Given the description of an element on the screen output the (x, y) to click on. 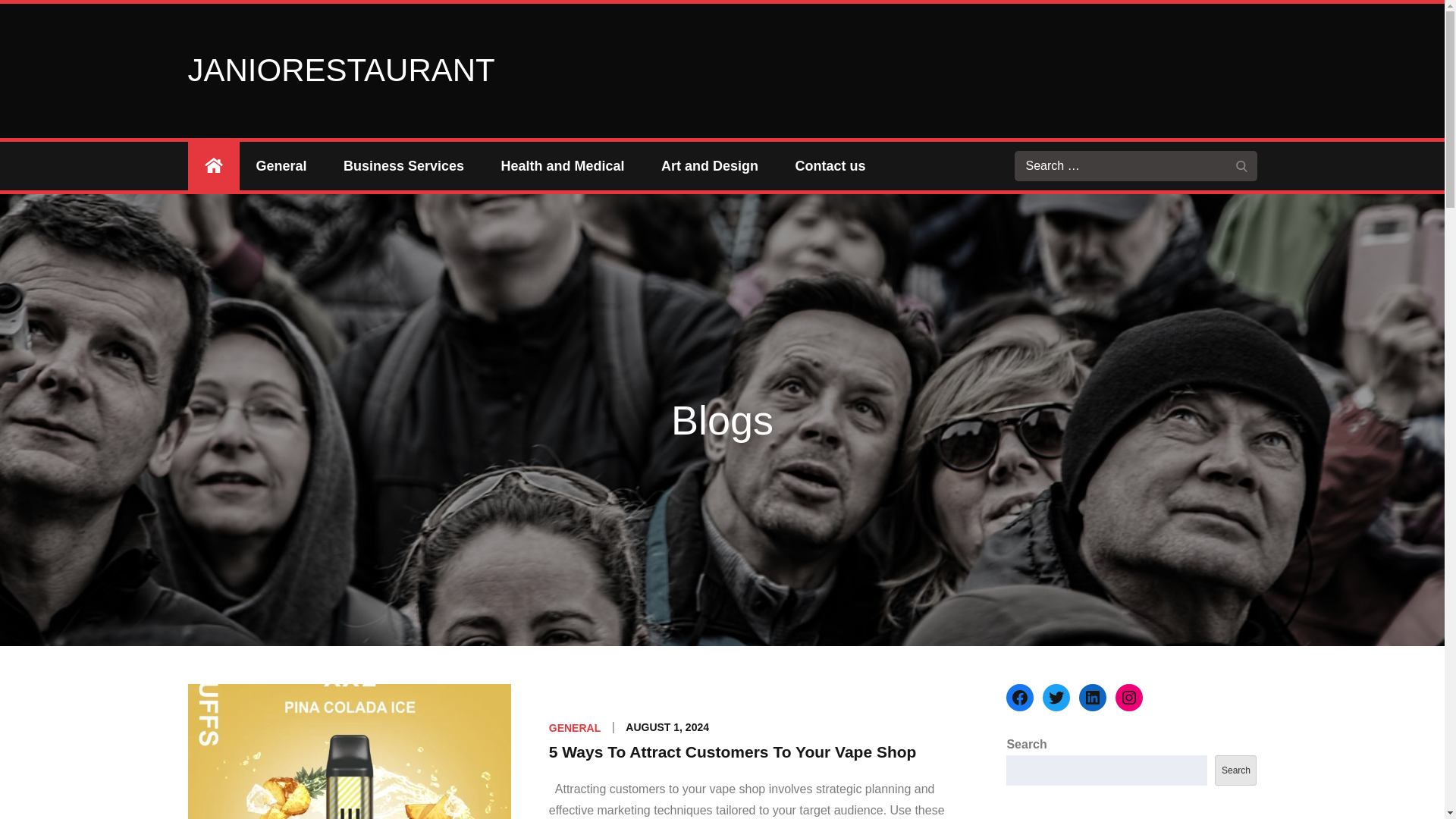
General (281, 165)
5 Ways To Attract Customers To Your Vape Shop (732, 751)
JANIORESTAURANT (341, 69)
Contact us (830, 165)
Business Services (403, 165)
Art and Design (709, 165)
Search (1242, 165)
GENERAL (573, 727)
Health and Medical (563, 165)
AUGUST 1, 2024 (667, 727)
